Given the description of an element on the screen output the (x, y) to click on. 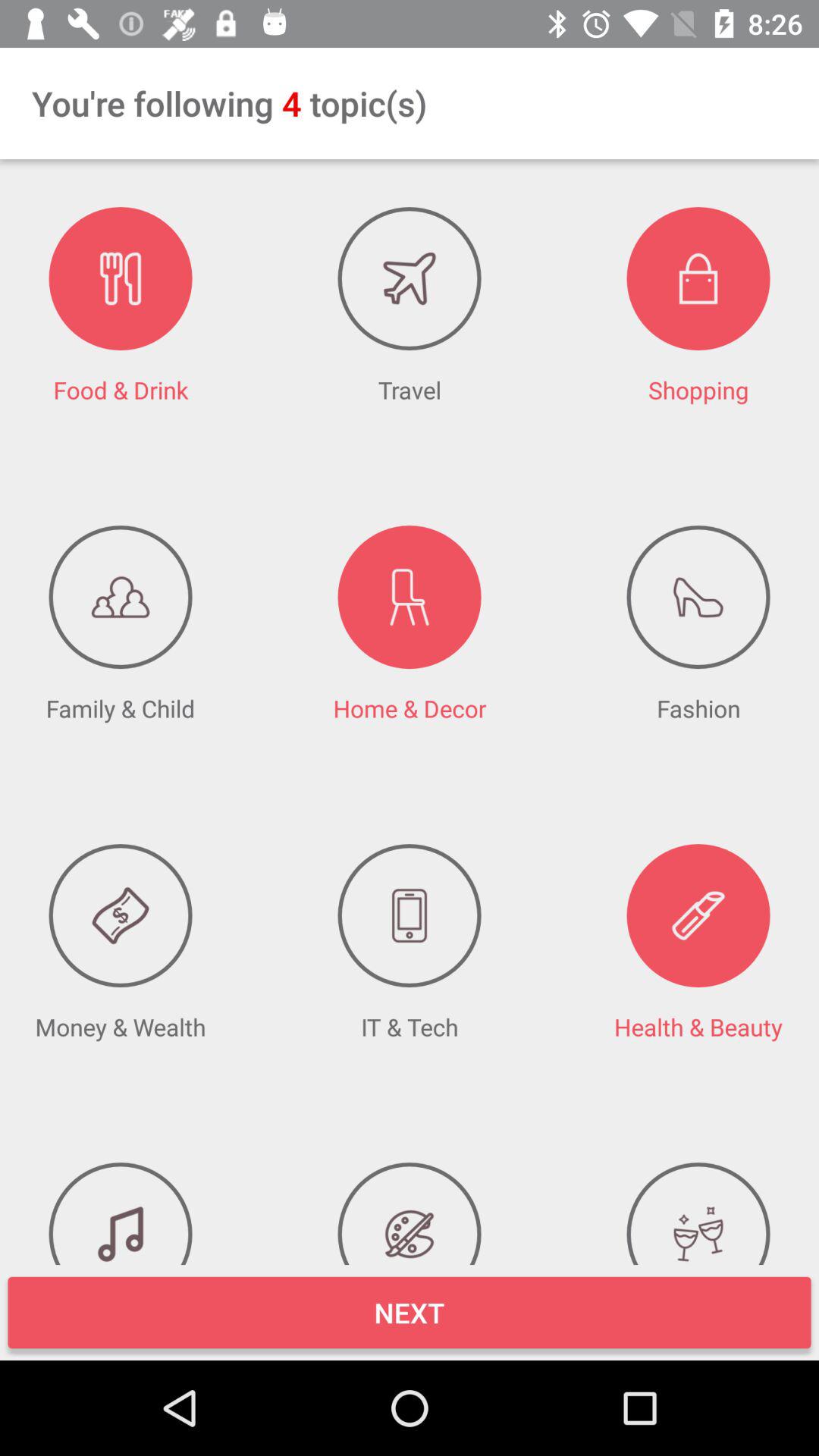
turn off next (409, 1312)
